Given the description of an element on the screen output the (x, y) to click on. 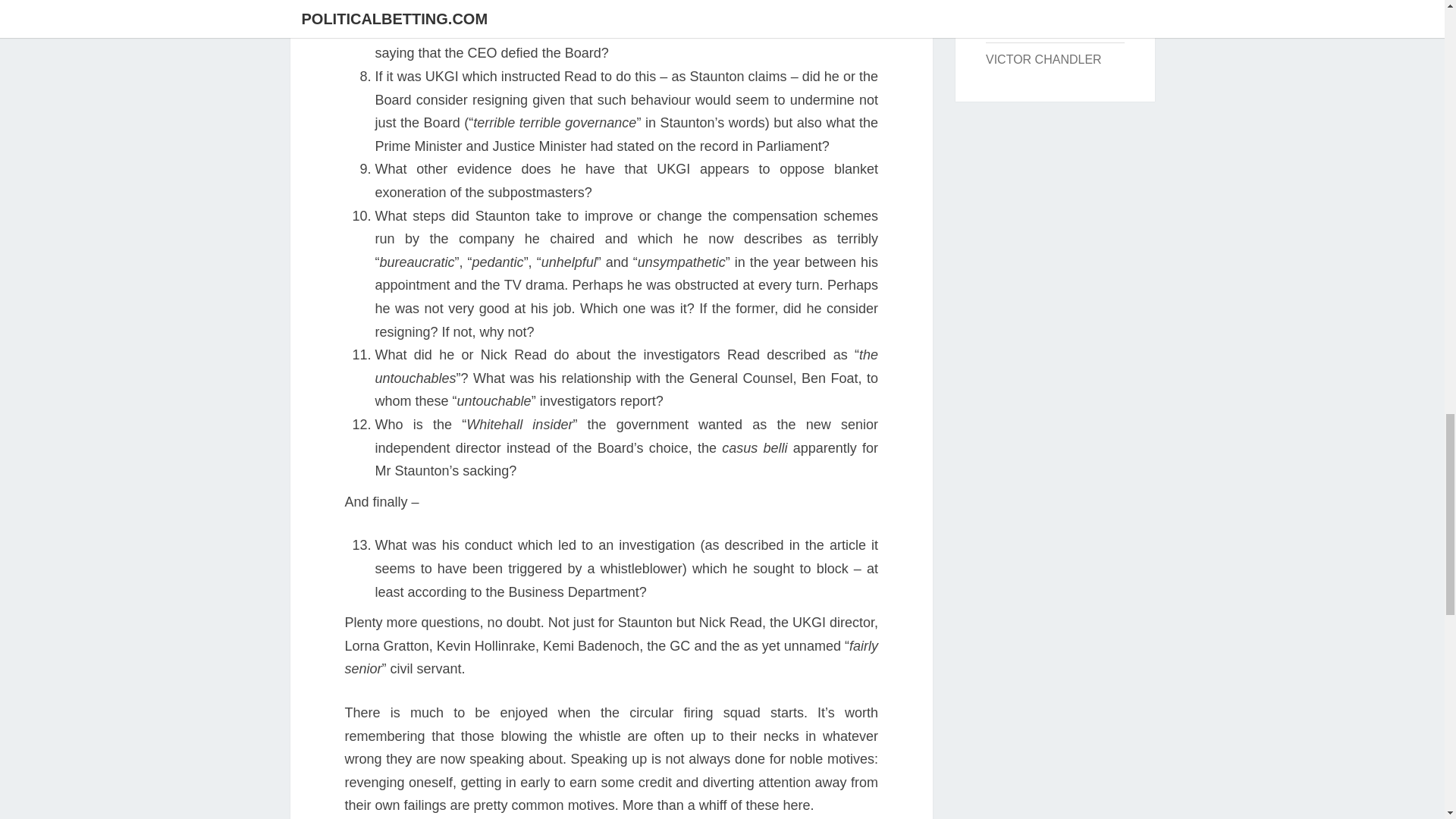
UK Betting Sites (1029, 24)
VICTOR CHANDLER (1043, 59)
